Given the description of an element on the screen output the (x, y) to click on. 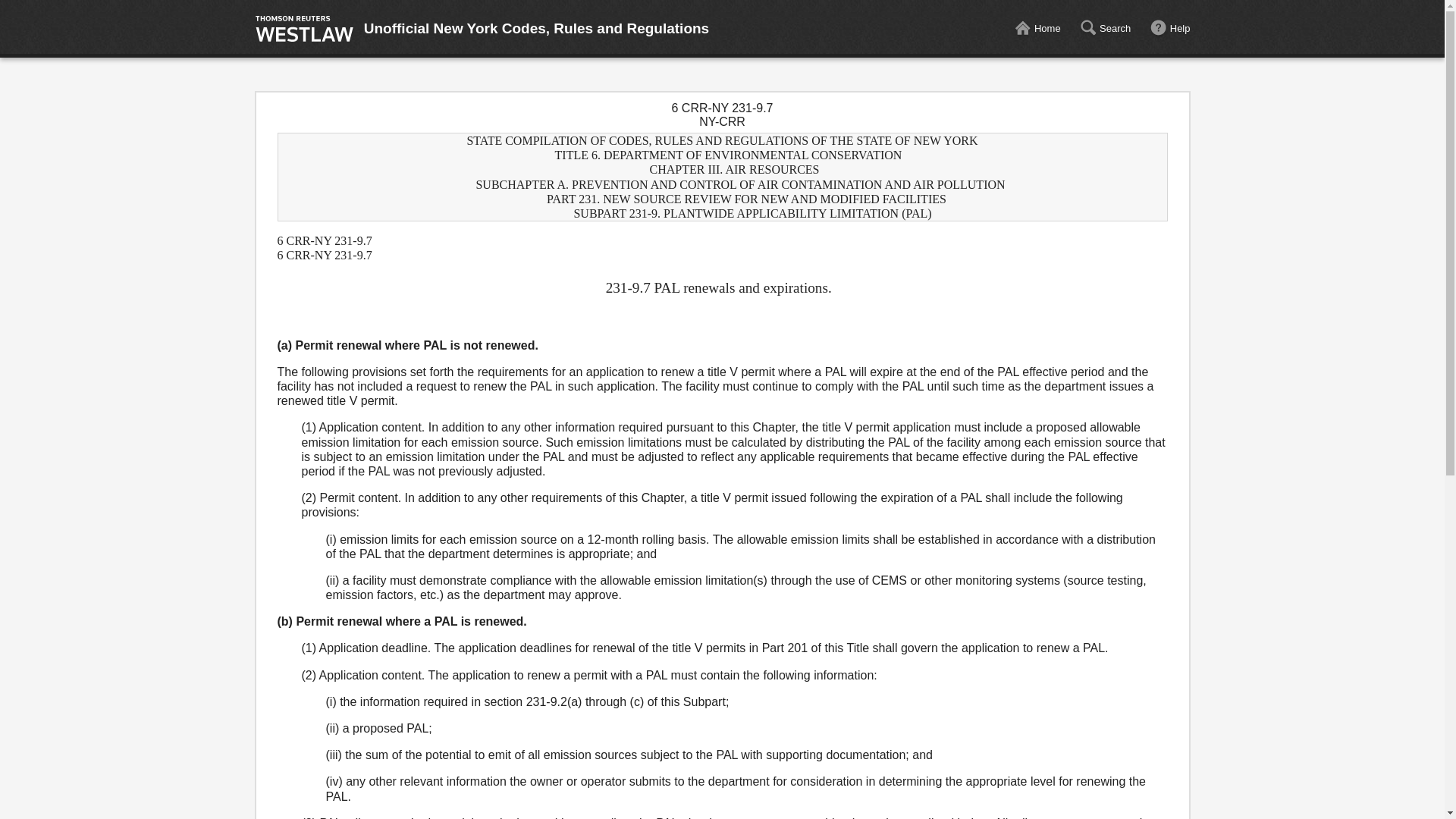
Unofficial New York Codes, Rules and Regulations (536, 28)
Search (1104, 28)
Help (1170, 28)
Thomson Reuters Westlaw (303, 28)
Home (1037, 28)
